Given the description of an element on the screen output the (x, y) to click on. 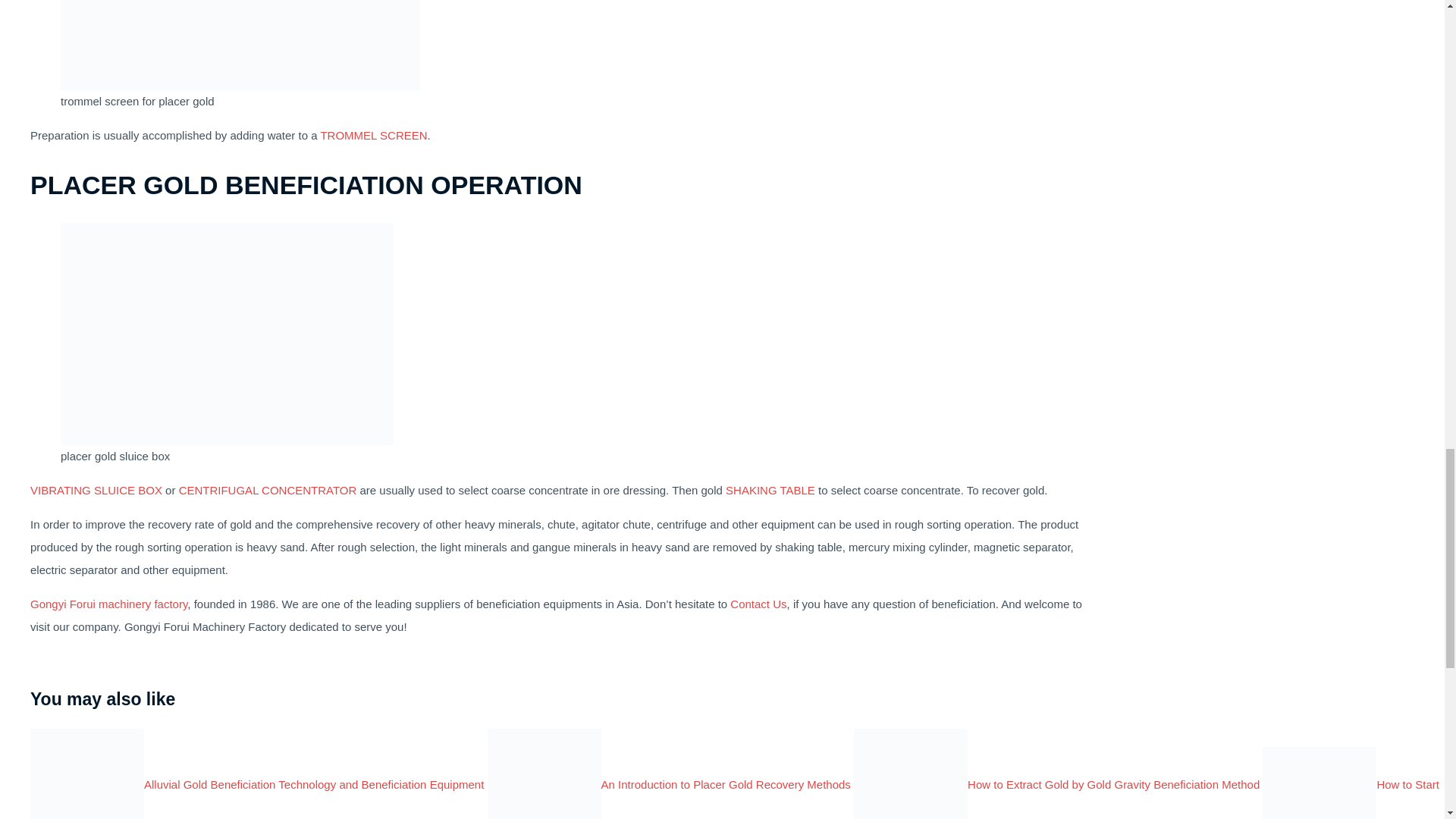
An Introduction to Placer Gold Recovery Methods (668, 784)
CENTRIFUGAL CONCENTRATOR (267, 490)
How to Extract Gold by Gold Gravity Beneficiation Method (1056, 784)
VIBRATING SLUICE BOX (95, 490)
SHAKING TABLE (770, 490)
Gongyi Forui machinery factory (108, 603)
TROMMEL SCREEN (373, 134)
Contact Us (758, 603)
